Given the description of an element on the screen output the (x, y) to click on. 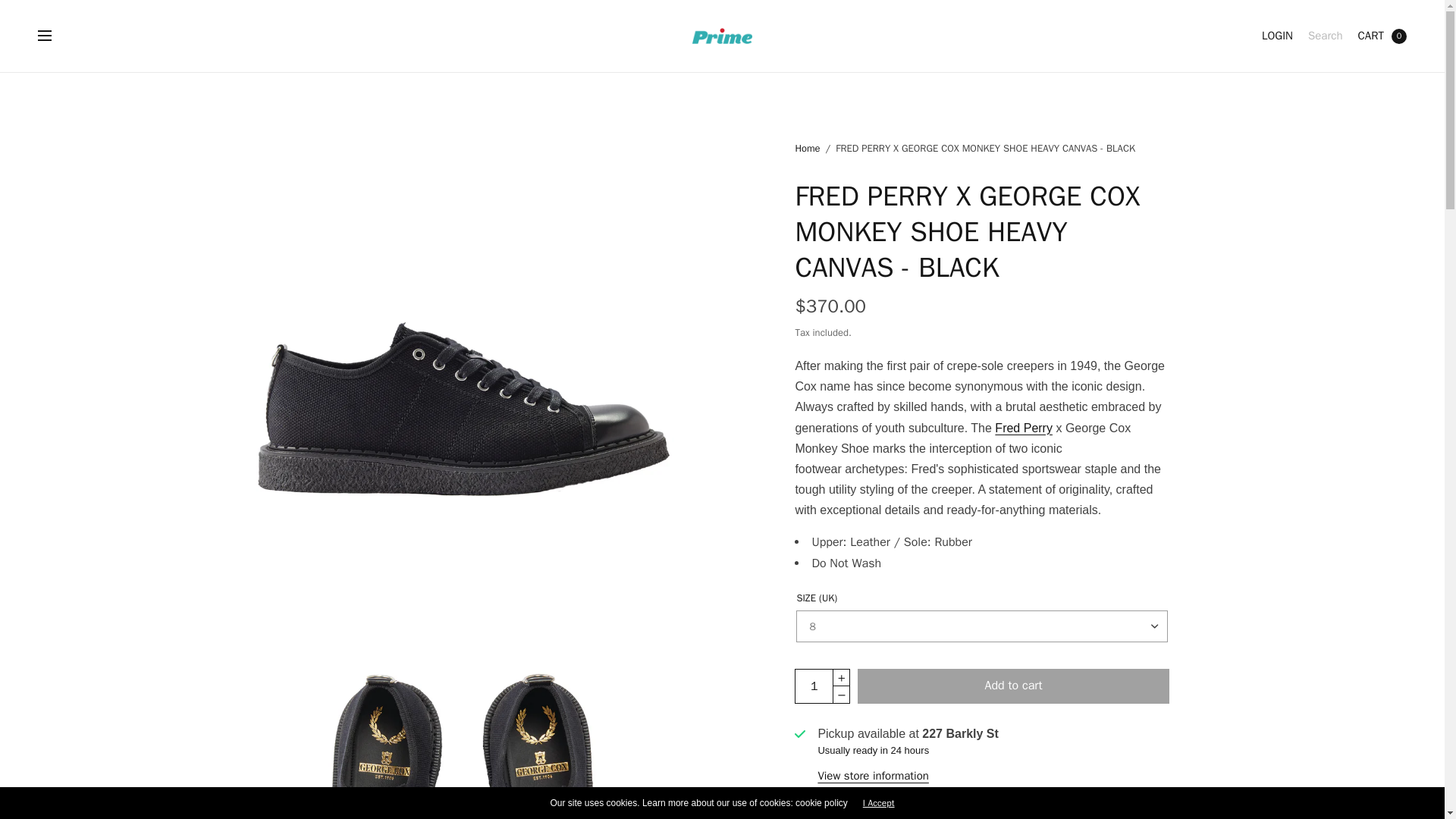
Search (1324, 35)
1 (813, 686)
Toggle Mobile Menu (54, 36)
LOGIN (1277, 35)
